Given the description of an element on the screen output the (x, y) to click on. 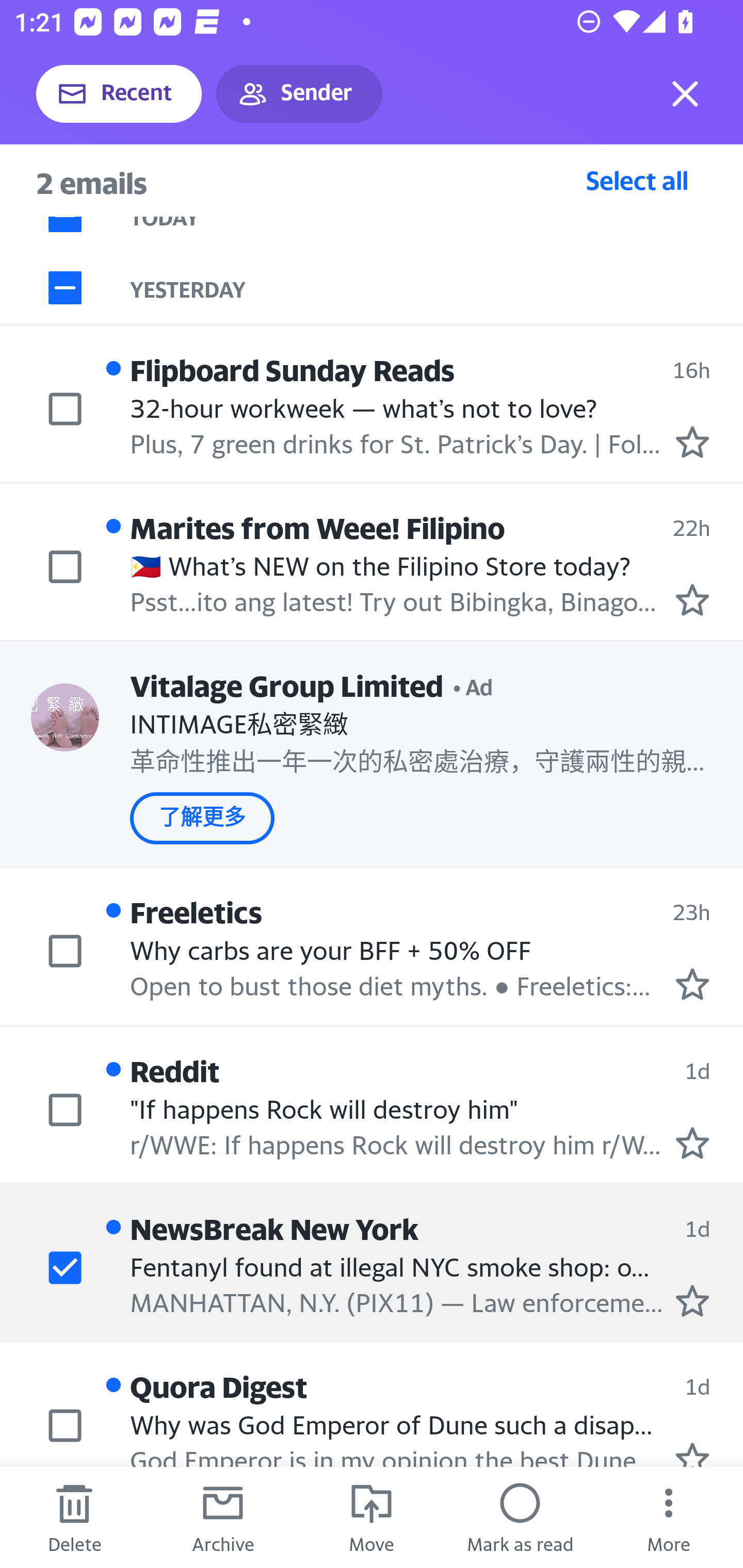
Sender (299, 93)
Exit selection mode (684, 93)
Select all (637, 180)
YESTERDAY (436, 287)
Mark as starred. (692, 441)
Mark as starred. (692, 599)
Mark as starred. (692, 983)
Mark as starred. (692, 1142)
Mark as starred. (692, 1300)
Mark as starred. (692, 1453)
Delete (74, 1517)
Archive (222, 1517)
Move (371, 1517)
Mark as read (519, 1517)
More (668, 1517)
